Given the description of an element on the screen output the (x, y) to click on. 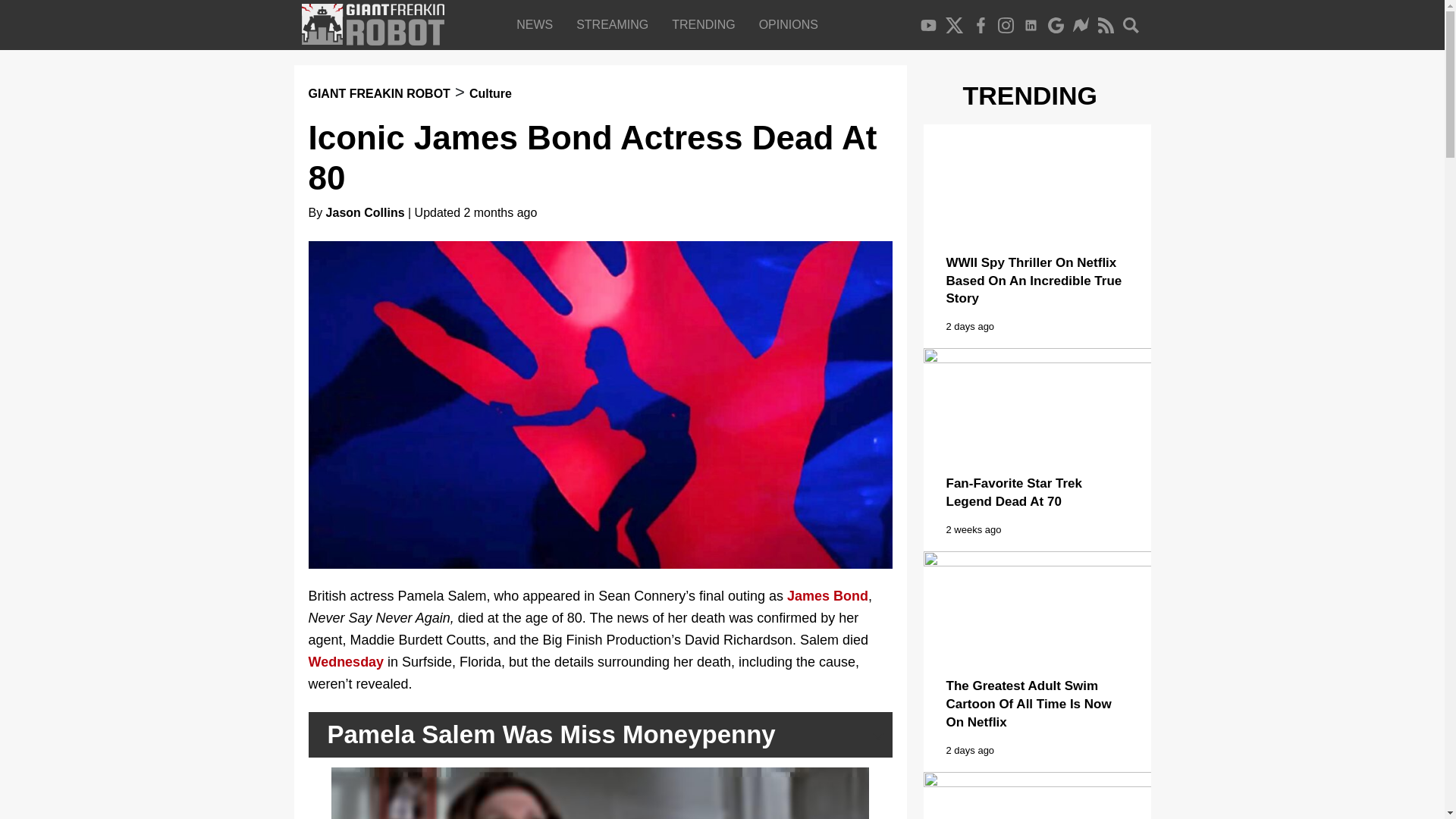
TRENDING (706, 24)
OPINIONS (791, 24)
Culture (490, 92)
STREAMING (615, 24)
James Bond (827, 595)
Jason Collins (365, 212)
Streaming (615, 24)
Entertainment News (537, 24)
GIANT FREAKIN ROBOT (378, 92)
Trending (706, 24)
